Given the description of an element on the screen output the (x, y) to click on. 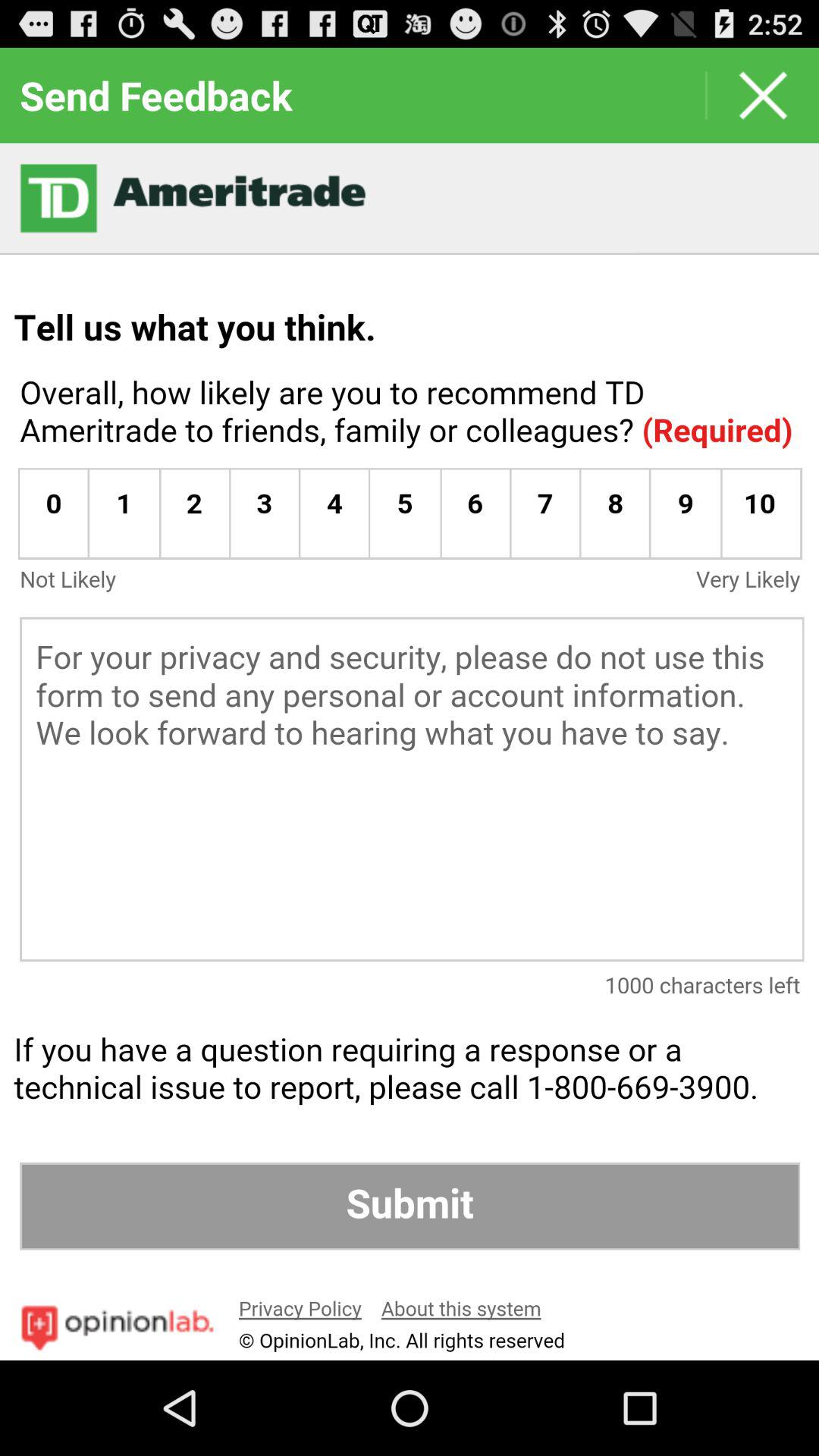
listen description (409, 751)
